Given the description of an element on the screen output the (x, y) to click on. 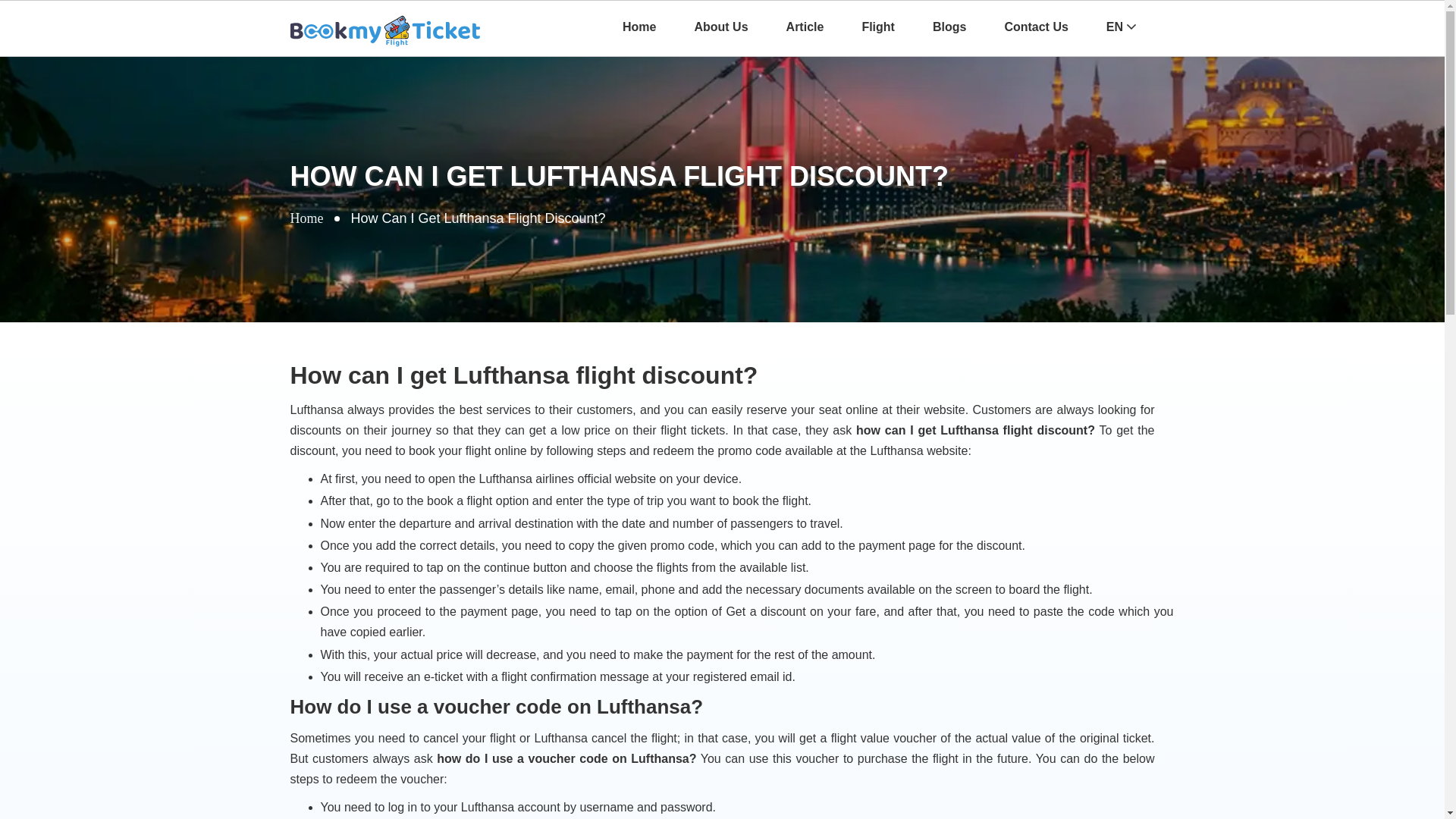
EN (1120, 27)
Blogs (949, 27)
Article (805, 27)
Home (306, 218)
Contact Us (1035, 27)
About Us (721, 27)
Home (639, 27)
Flight (878, 27)
